Given the description of an element on the screen output the (x, y) to click on. 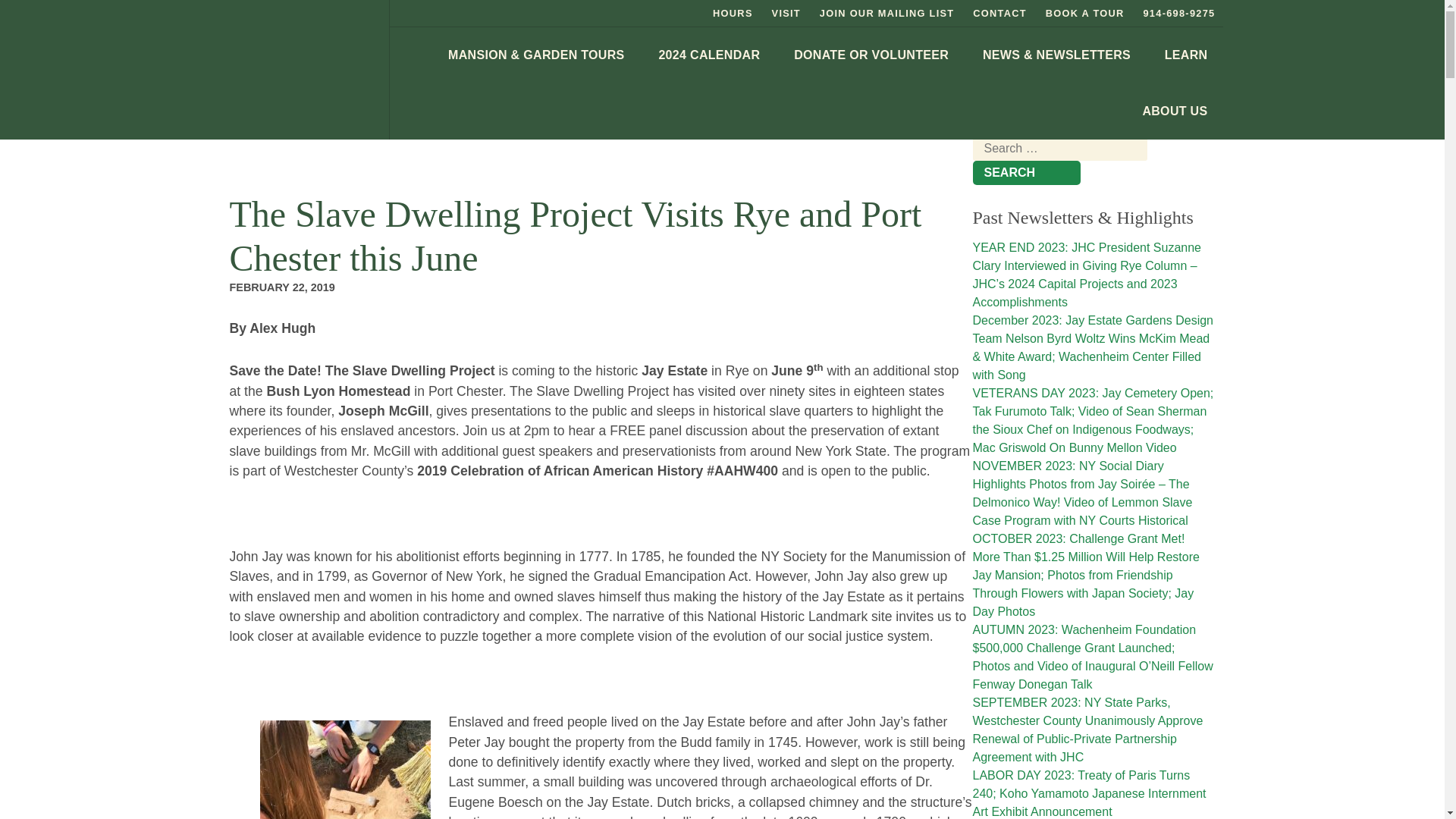
914-698-9275 (1179, 13)
HOURS (732, 13)
Search (1026, 172)
2024 CALENDAR (708, 55)
VISIT (786, 13)
Search (1026, 172)
BOOK A TOUR (1085, 13)
LEARN (1186, 55)
DONATE OR VOLUNTEER (870, 55)
CONTACT (999, 13)
ABOUT US (1174, 111)
JOIN OUR MAILING LIST (887, 13)
